Given the description of an element on the screen output the (x, y) to click on. 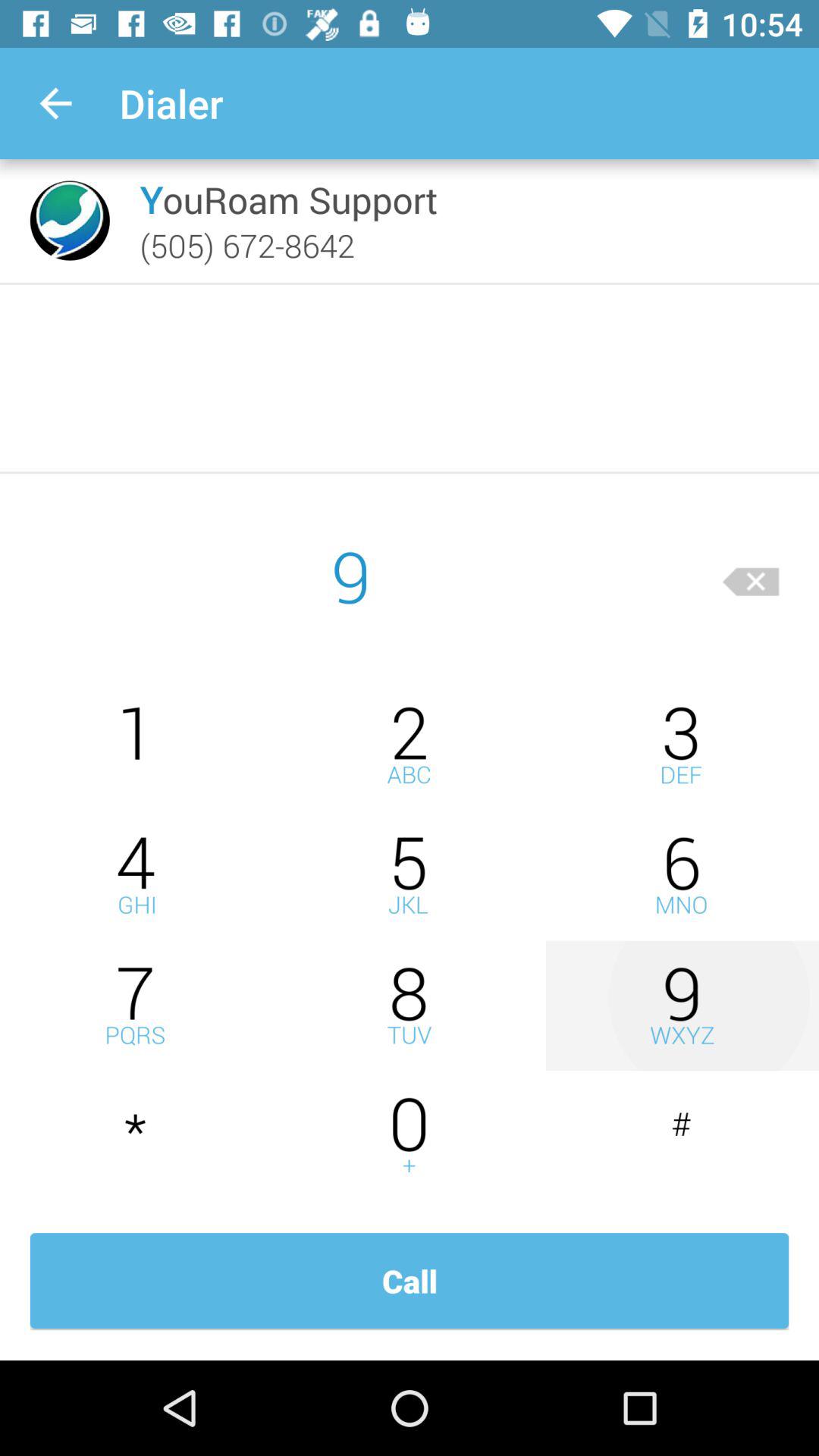
tap the call (409, 1280)
